Given the description of an element on the screen output the (x, y) to click on. 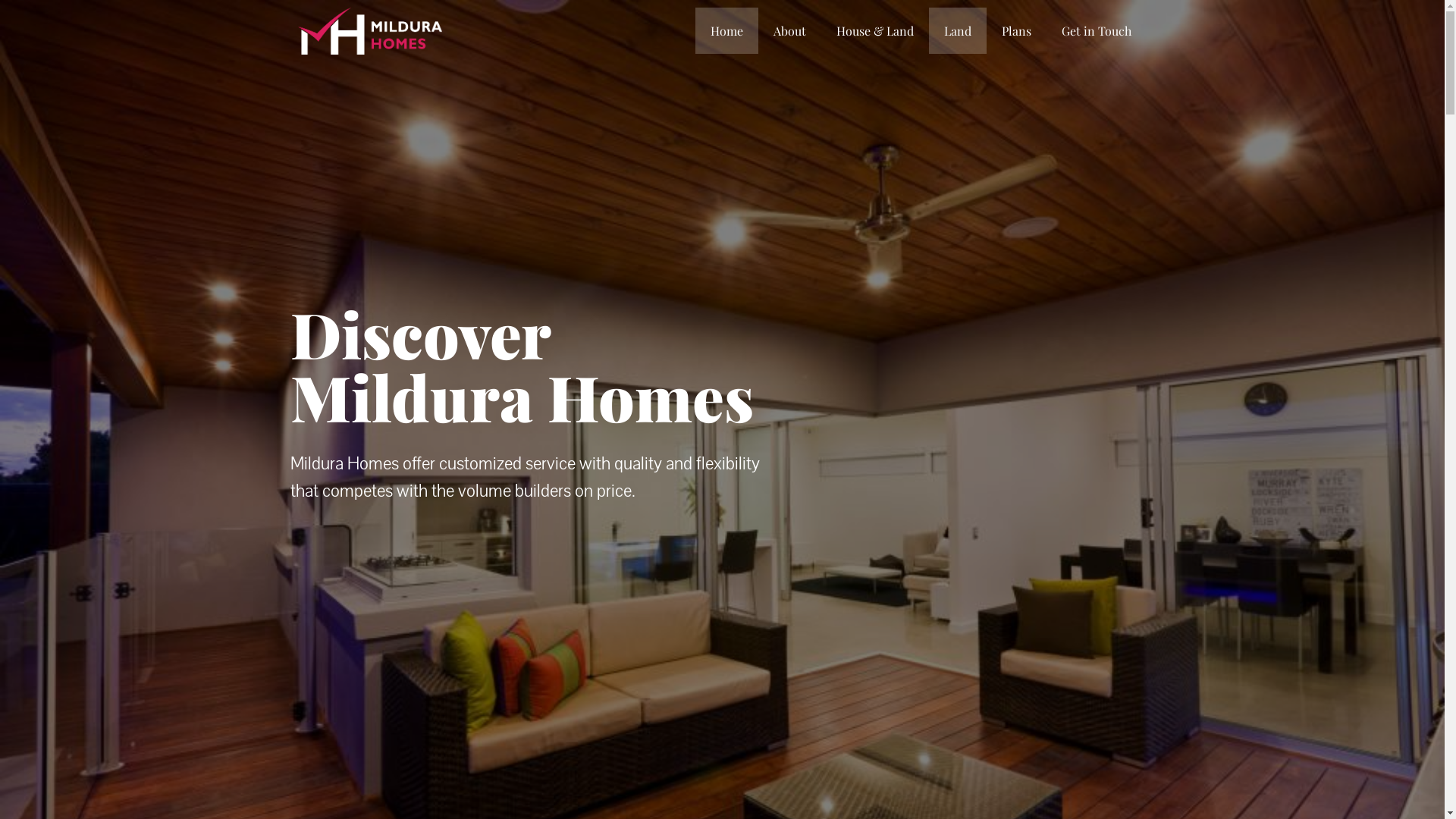
About Element type: text (789, 30)
House & Land Element type: text (874, 30)
Land Element type: text (957, 30)
Get in Touch Element type: text (1096, 30)
Plans Element type: text (1016, 30)
Home Element type: text (726, 30)
